Given the description of an element on the screen output the (x, y) to click on. 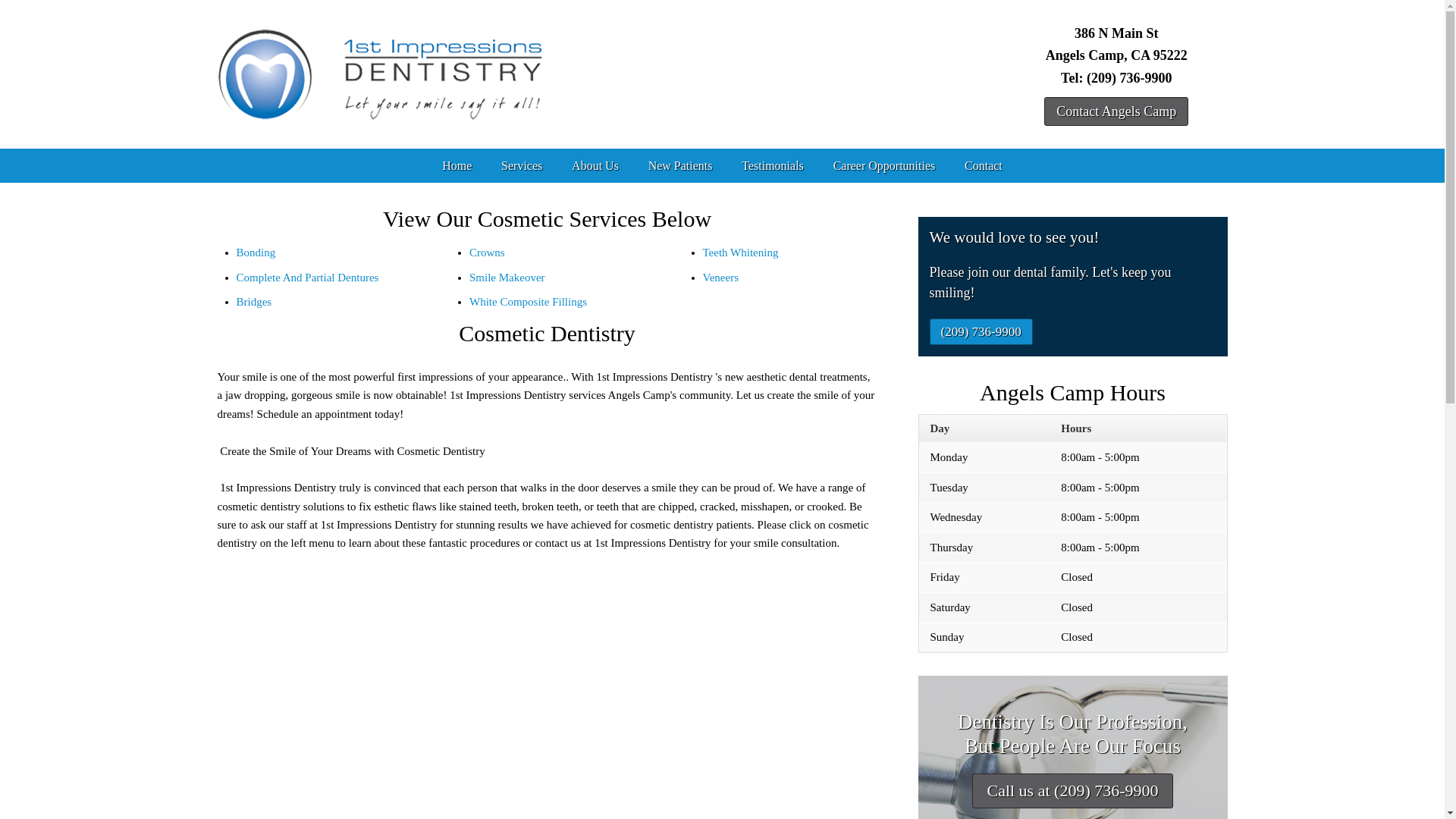
Crowns Element type: text (487, 252)
Smile Makeover Element type: text (507, 277)
White Composite Fillings Element type: text (527, 301)
Teeth Whitening Element type: text (740, 252)
About Us Element type: text (595, 165)
Complete And Partial Dentures Element type: text (307, 277)
Bonding Element type: text (256, 252)
386 N Main St Element type: text (1116, 32)
New Patients Element type: text (680, 165)
Veneers Element type: text (719, 277)
Angels Camp, CA 95222 Element type: text (1116, 54)
Home Element type: text (456, 165)
Contact Element type: text (983, 165)
Call us at (209) 736-9900 Element type: text (1072, 790)
Bridges Element type: text (254, 301)
Testimonials Element type: text (772, 165)
(209) 736-9900 Element type: text (980, 331)
Tel: (209) 736-9900 Element type: text (1115, 76)
Services Element type: text (521, 165)
Career Opportunities Element type: text (883, 165)
Contact Angels Camp Element type: text (1116, 111)
